Given the description of an element on the screen output the (x, y) to click on. 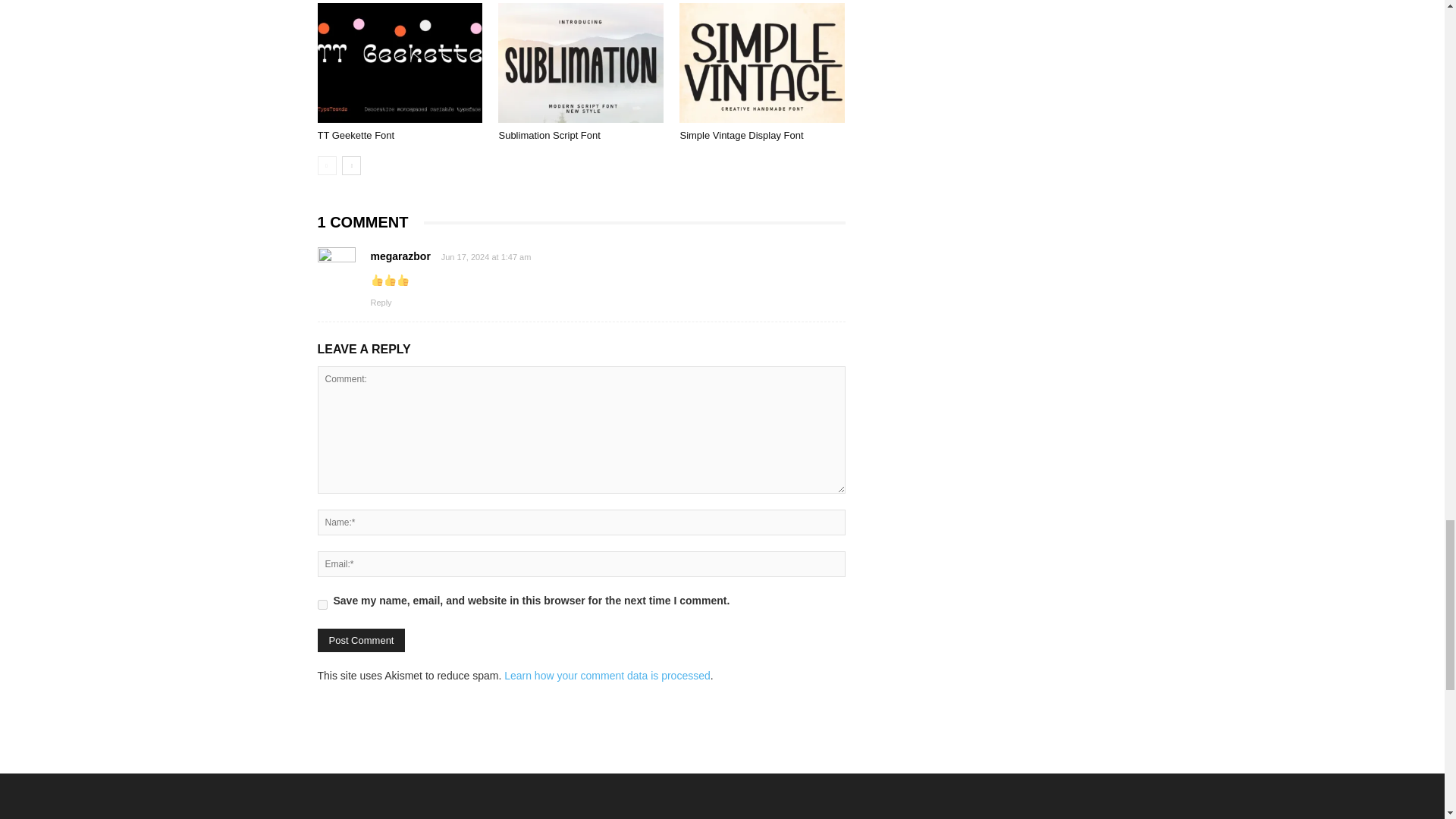
yes (321, 604)
Post Comment (360, 639)
